Given the description of an element on the screen output the (x, y) to click on. 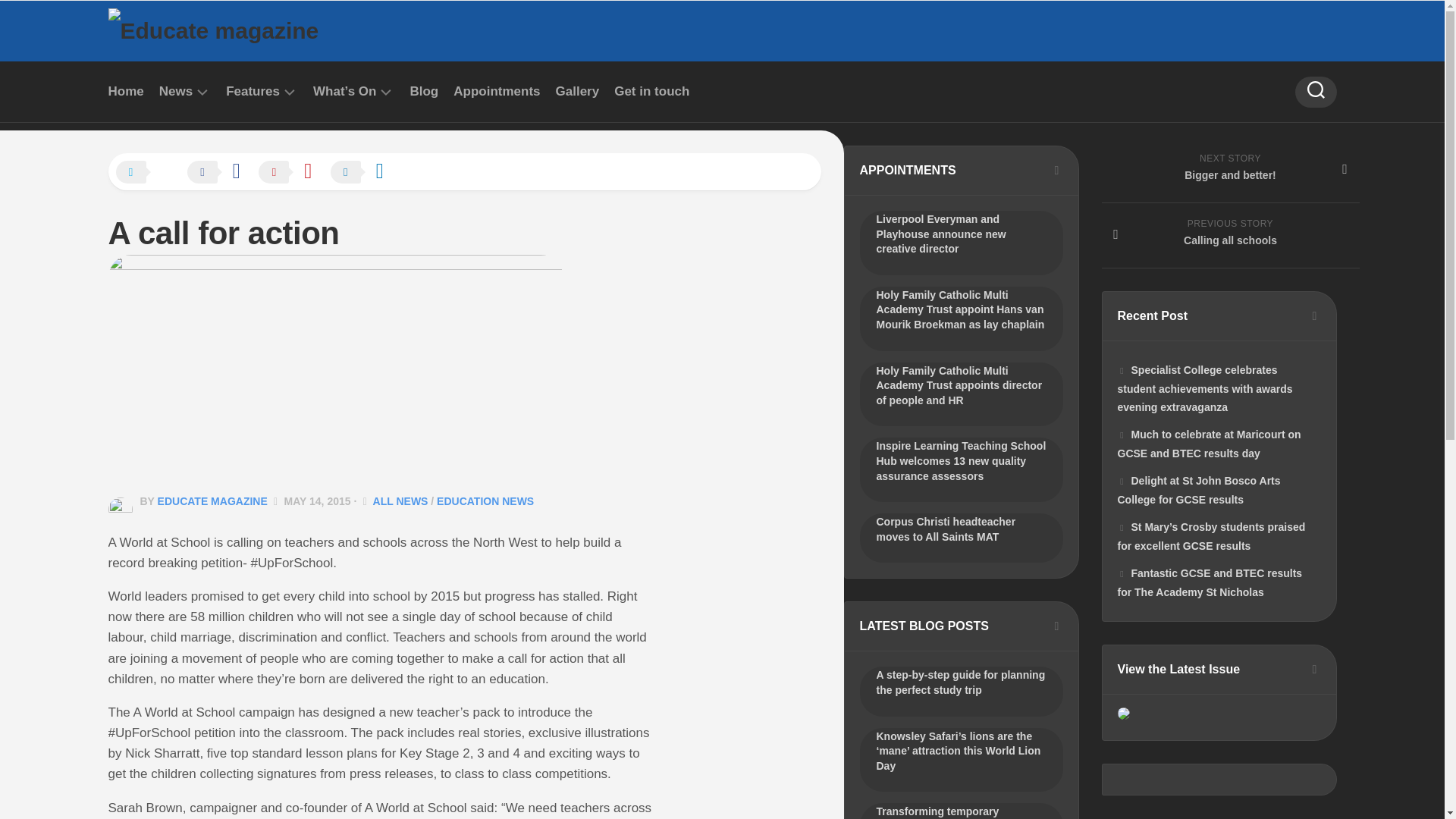
Share on Pinterest (292, 172)
Share on Facebook (221, 172)
Features (252, 91)
Appointments (496, 91)
Posts by Educate Magazine (212, 500)
Get in touch (651, 91)
Share on LinkedIn (364, 172)
Blog (423, 91)
ALL NEWS (400, 500)
EDUCATION NEWS (485, 500)
